Given the description of an element on the screen output the (x, y) to click on. 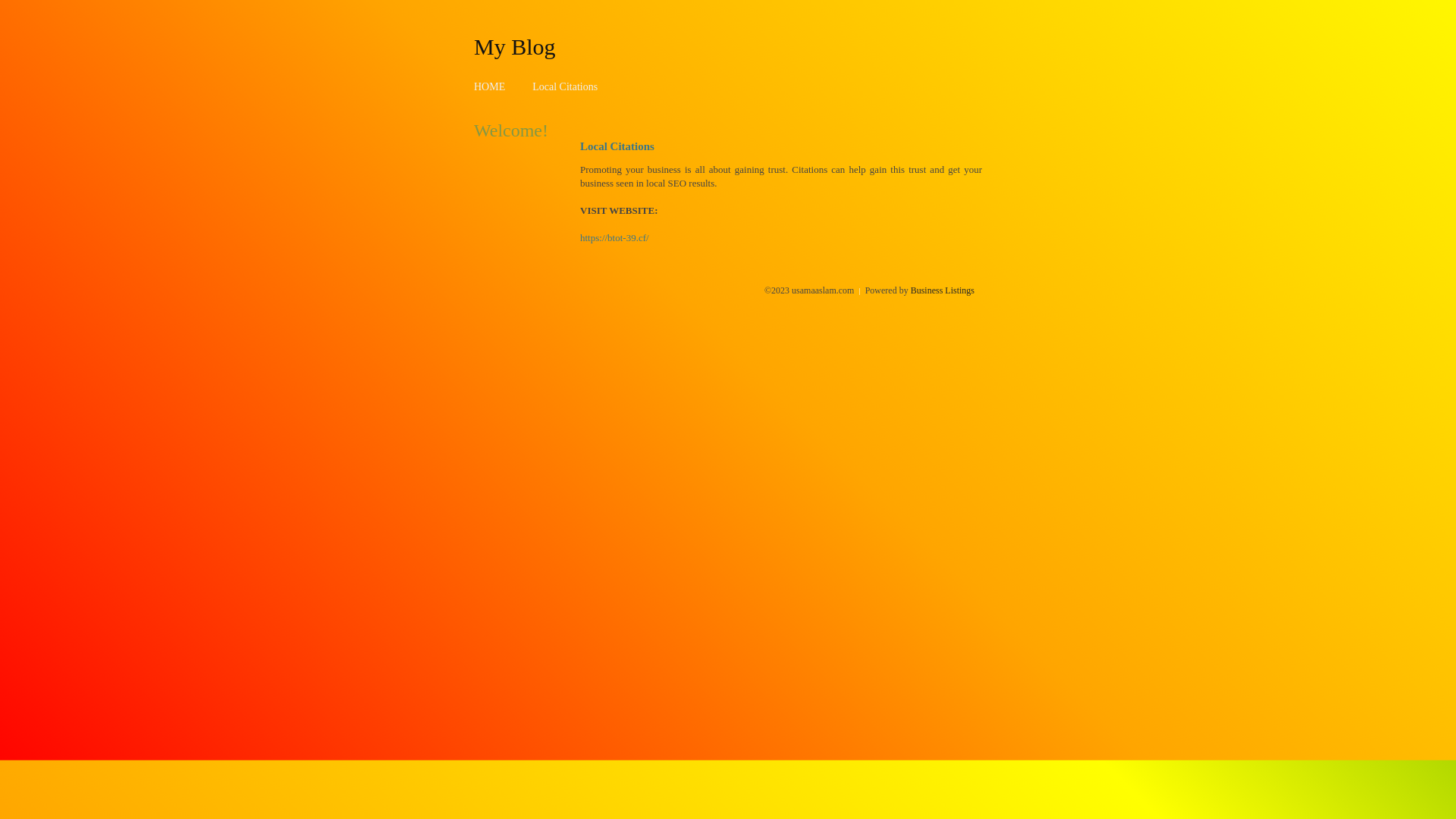
Local Citations Element type: text (564, 86)
HOME Element type: text (489, 86)
My Blog Element type: text (514, 46)
https://btot-39.cf/ Element type: text (614, 237)
Business Listings Element type: text (942, 290)
